Given the description of an element on the screen output the (x, y) to click on. 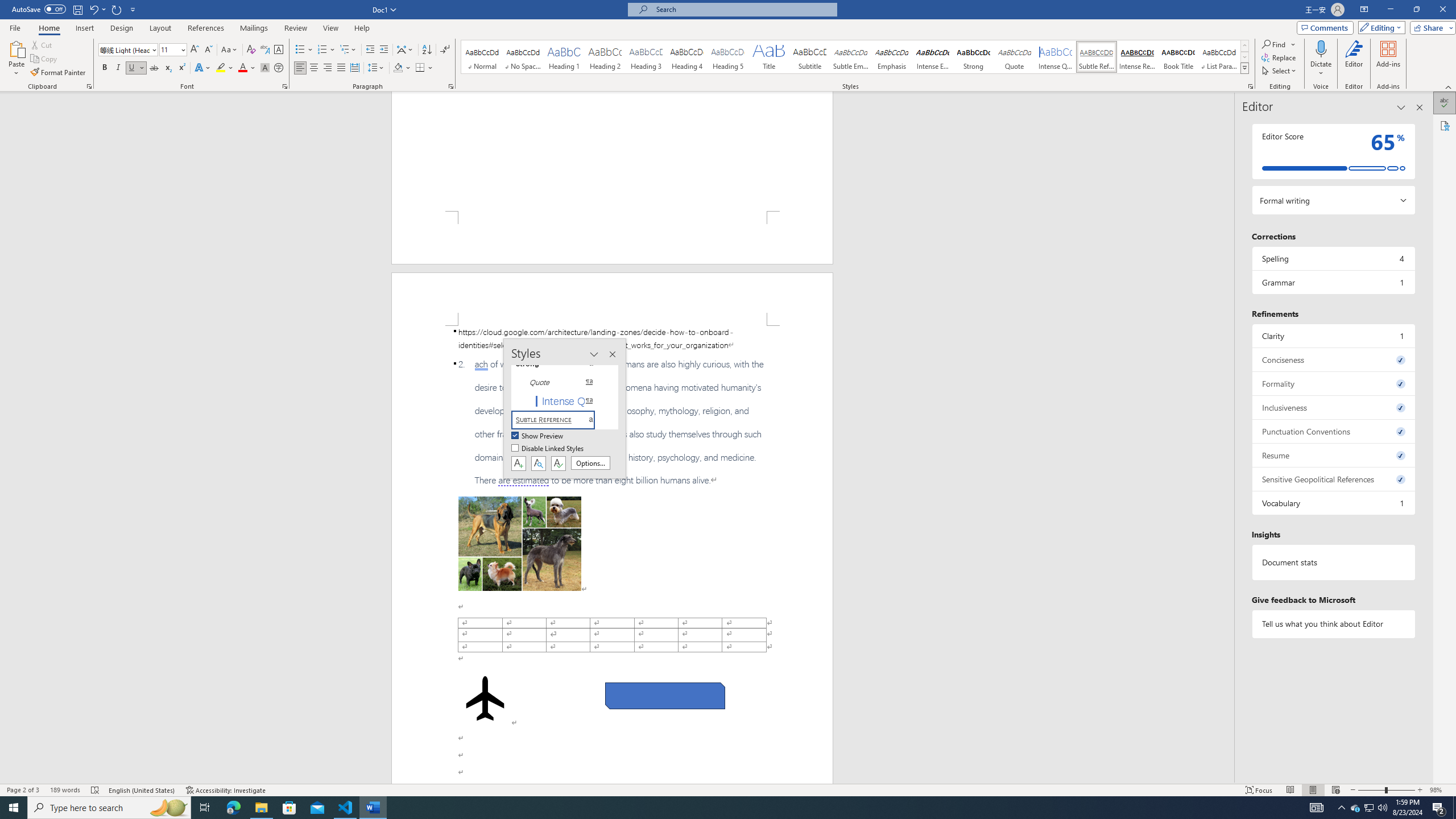
Document statistics (1333, 561)
Disable Linked Styles (548, 448)
